Given the description of an element on the screen output the (x, y) to click on. 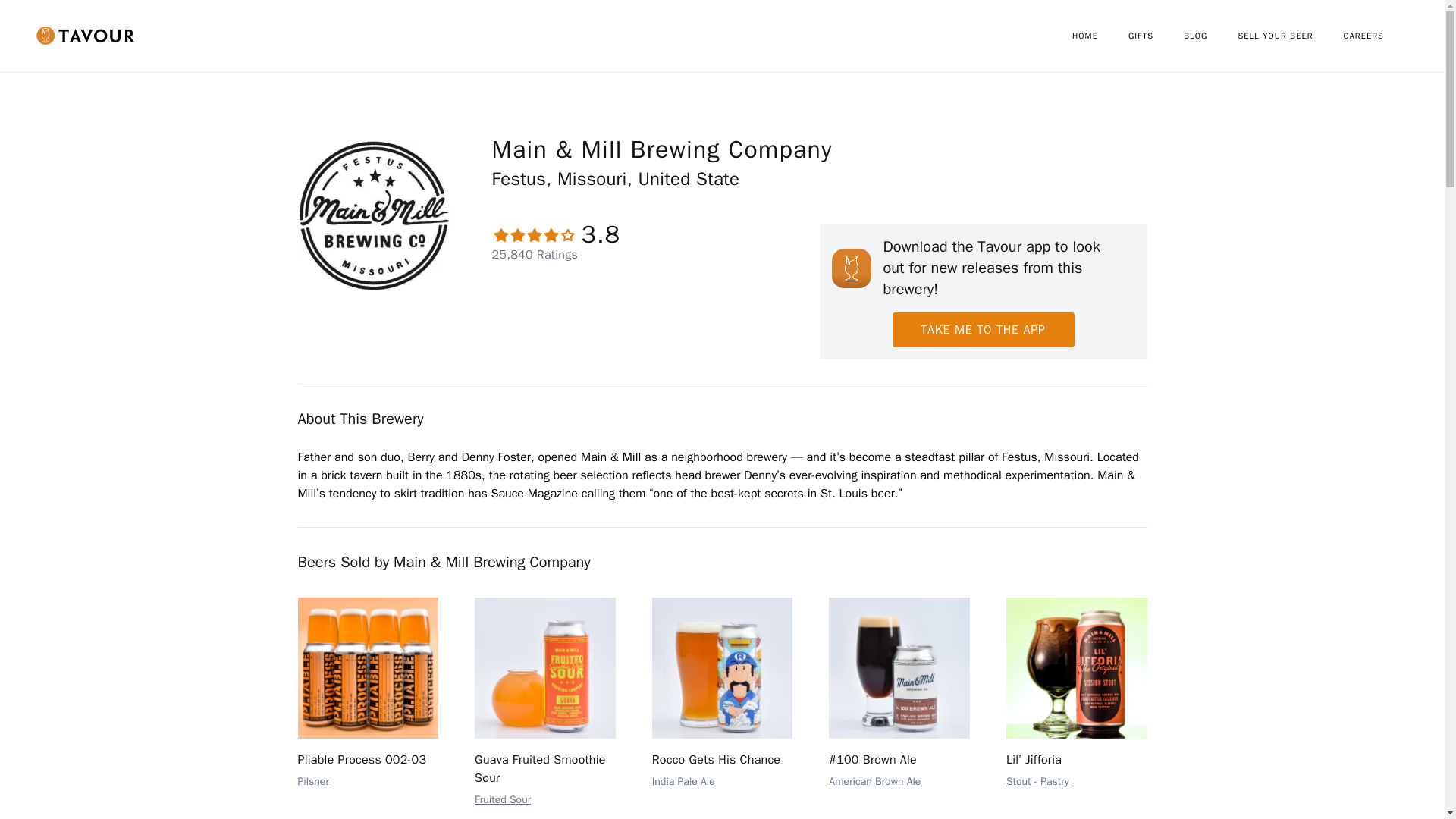
Fruited Sour (502, 799)
BLOG (1210, 35)
India Pale Ale (683, 780)
Stout - Pastry (1037, 780)
gifts (1155, 35)
blog (1210, 35)
SELL YOUR BEER (1289, 35)
GIFTS (1155, 35)
careers (1378, 35)
sell your beer (1289, 35)
